Given the description of an element on the screen output the (x, y) to click on. 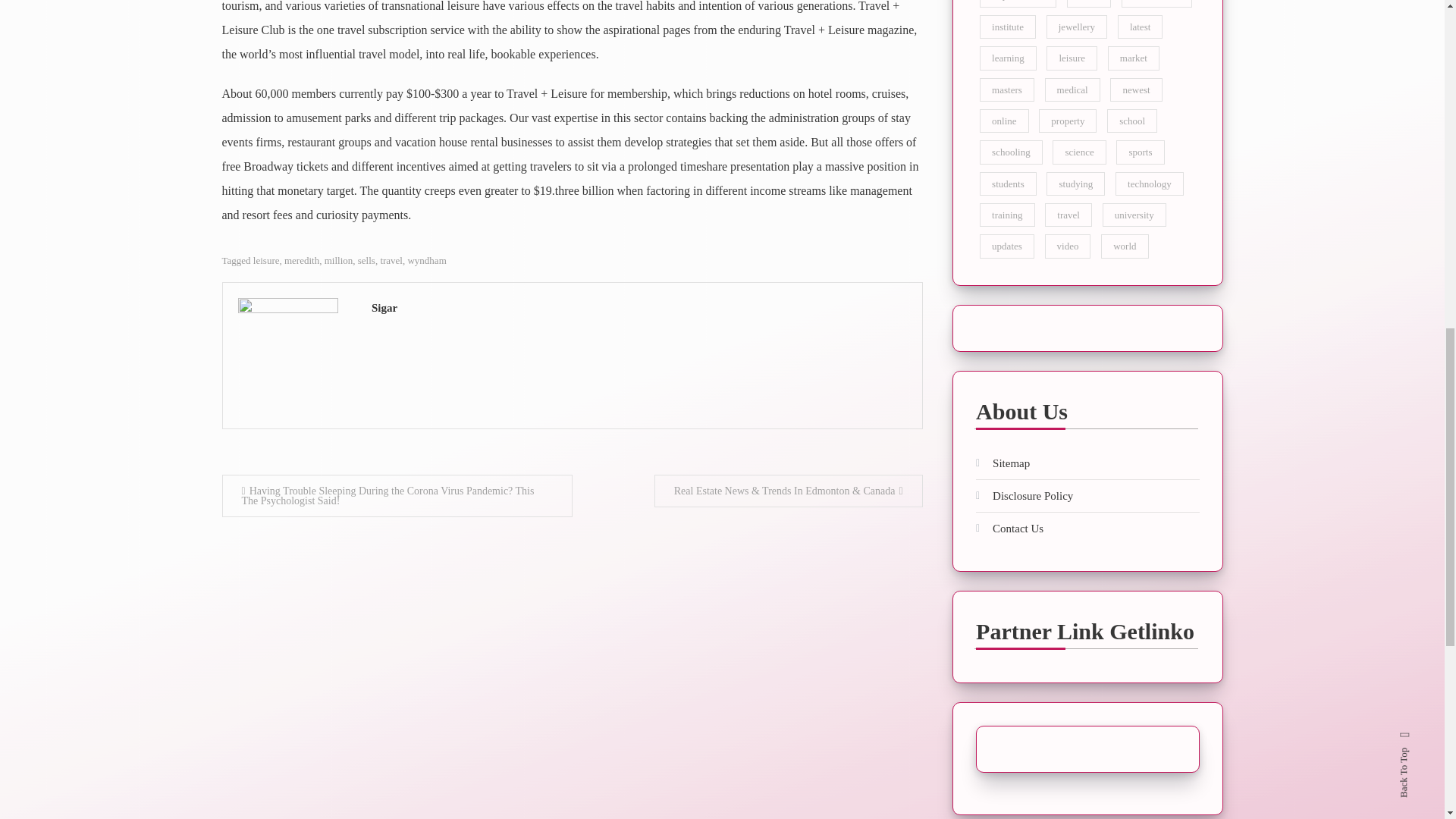
leisure (266, 260)
travel (391, 260)
Sigar (639, 308)
sells (366, 260)
meredith (300, 260)
million (338, 260)
wyndham (426, 260)
